Given the description of an element on the screen output the (x, y) to click on. 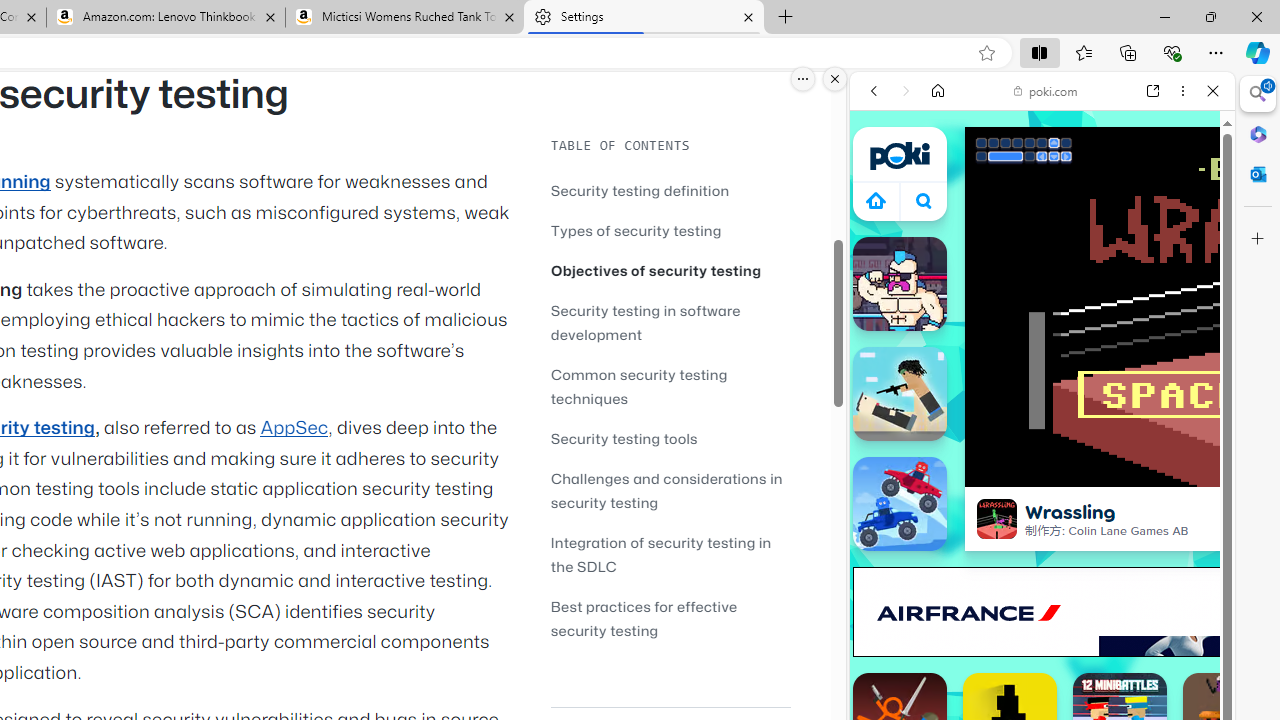
Show More Shooting Games (1164, 521)
Integration of security testing in the SDLC (660, 554)
Objectives of security testing (655, 270)
Rooftop Snipers Rooftop Snipers (899, 393)
Poki - Free Online Games - Play Now! (1034, 309)
Battle Wheels (899, 503)
Best practices for effective security testing (670, 618)
Io Games (1042, 616)
Class: aprWdaSScyiJf4Jvmsx9 (875, 200)
